Given the description of an element on the screen output the (x, y) to click on. 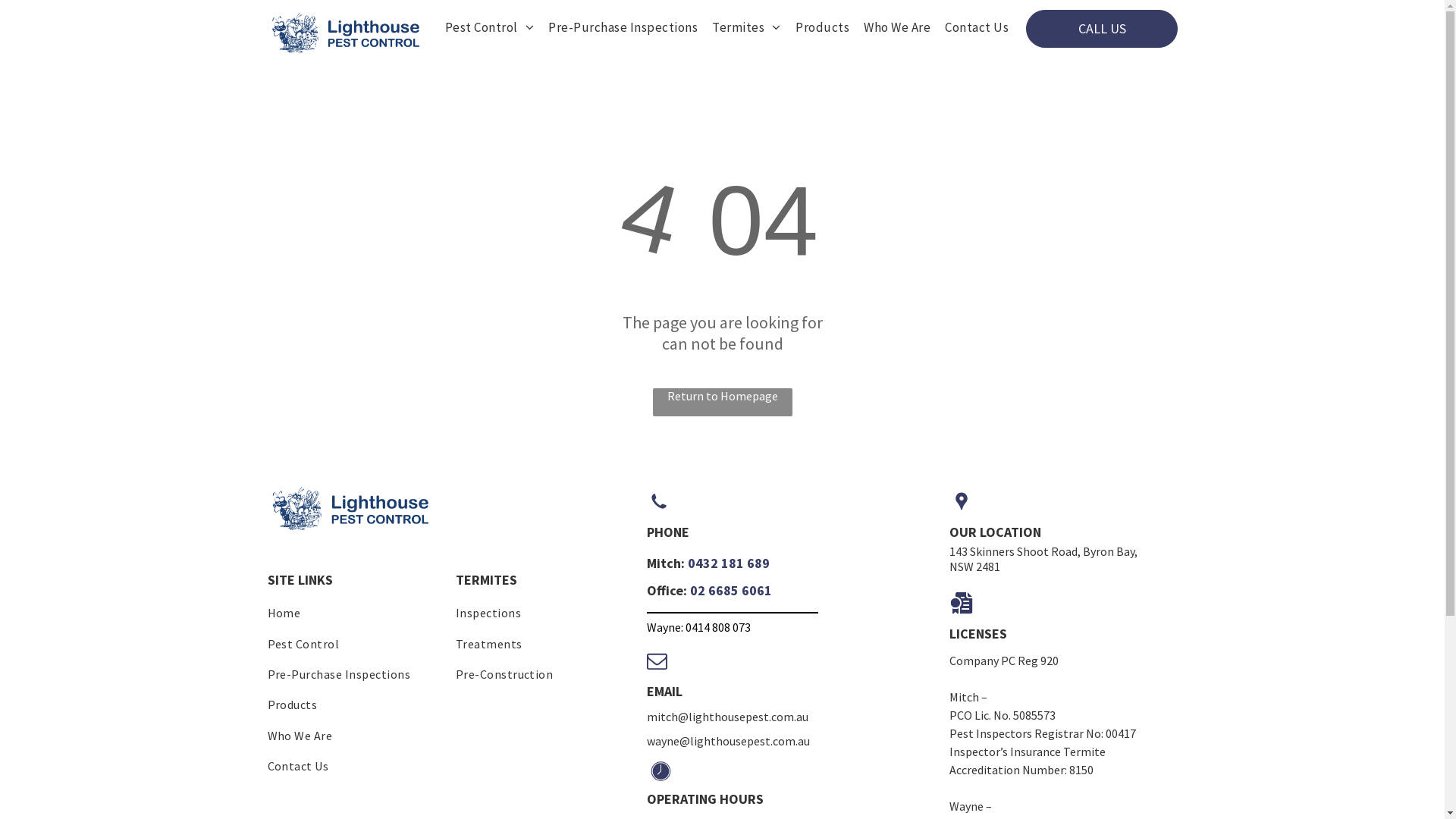
Contact Us Element type: text (355, 765)
TERMITES Element type: text (486, 579)
Who We Are Element type: text (355, 734)
Pre-Purchase Inspections Element type: text (355, 673)
Who We Are Element type: text (889, 27)
Termites Element type: text (739, 27)
CALL US Element type: text (1100, 28)
Products Element type: text (815, 27)
0414 808 073 Element type: text (717, 626)
143 Skinners Shoot Road, Byron Bay, NSW 2481 Element type: text (1043, 558)
Home Element type: text (355, 612)
Treatments Element type: text (544, 642)
Products Element type: text (355, 704)
Contact Us Element type: text (969, 27)
mitch@lighthousepest.com.au Element type: text (726, 716)
Pest Control Element type: text (355, 642)
wayne@lighthousepest.com.au Element type: text (727, 740)
Pest Control Element type: text (482, 27)
Inspections Element type: text (544, 612)
Return to Homepage Element type: text (721, 402)
0432 181 689 Element type: text (727, 562)
Pre-Construction Element type: text (544, 673)
02 6685 6061 Element type: text (730, 590)
Pre-Purchase Inspections Element type: text (615, 27)
